Given the description of an element on the screen output the (x, y) to click on. 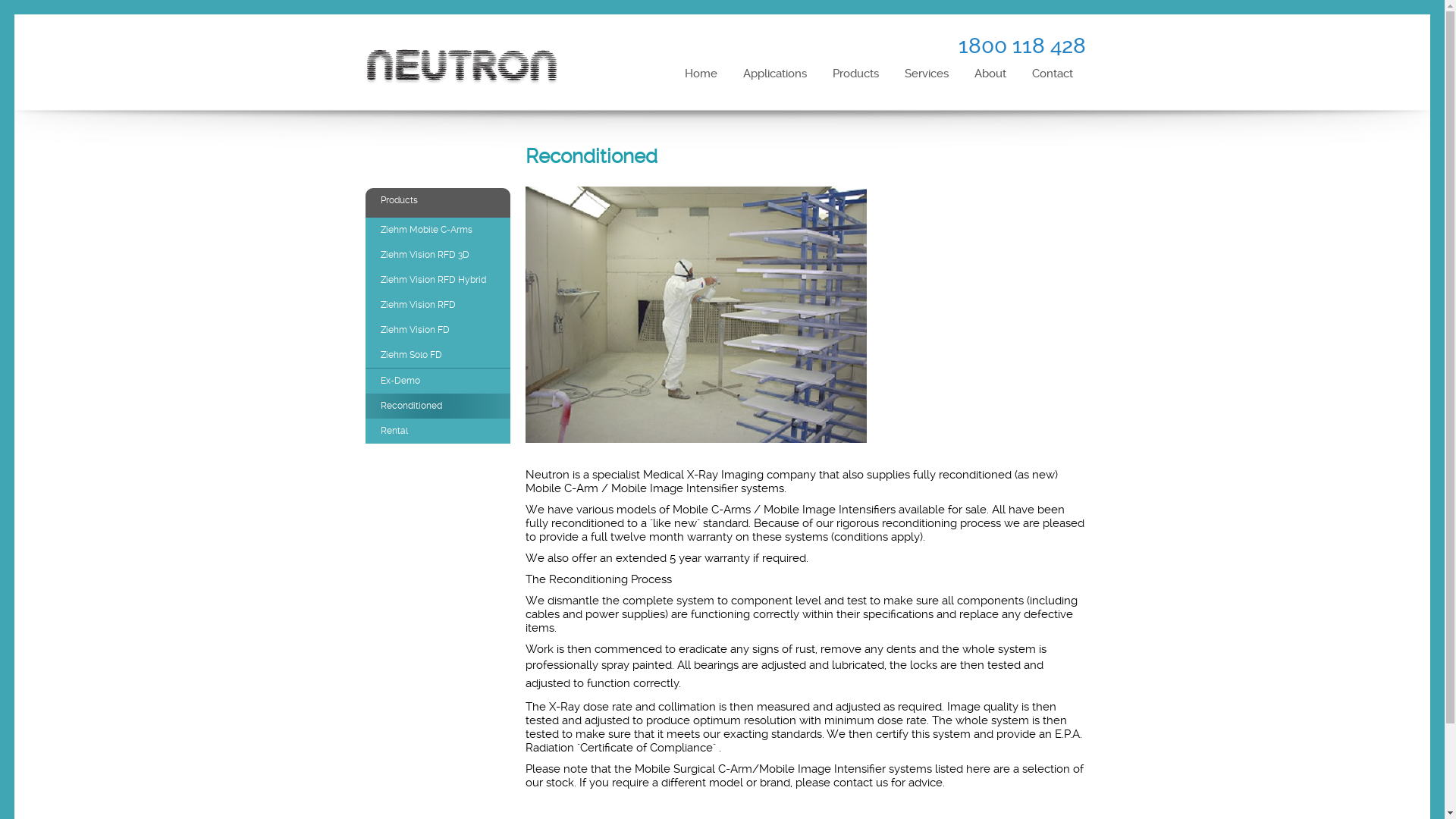
Ziehm Vision RFD Hybrid Edition Element type: text (437, 292)
Ziehm Solo FD Element type: text (437, 354)
Home Element type: text (700, 73)
Ziehm Vision RFD Element type: text (437, 304)
1800 118 428 Element type: text (1021, 45)
About Element type: text (990, 73)
Ziehm Mobile C-Arms Element type: text (437, 229)
Ex-Demo Element type: text (437, 380)
Contact Element type: text (1052, 73)
Ziehm Vision RFD 3D CMOS Element type: text (437, 267)
Services Element type: text (926, 73)
Products Element type: text (437, 200)
Products Element type: text (855, 73)
Reconditioned Element type: text (437, 405)
Ziehm Vision FD Element type: text (437, 329)
Applications Element type: text (775, 73)
Rental Element type: text (437, 430)
